Given the description of an element on the screen output the (x, y) to click on. 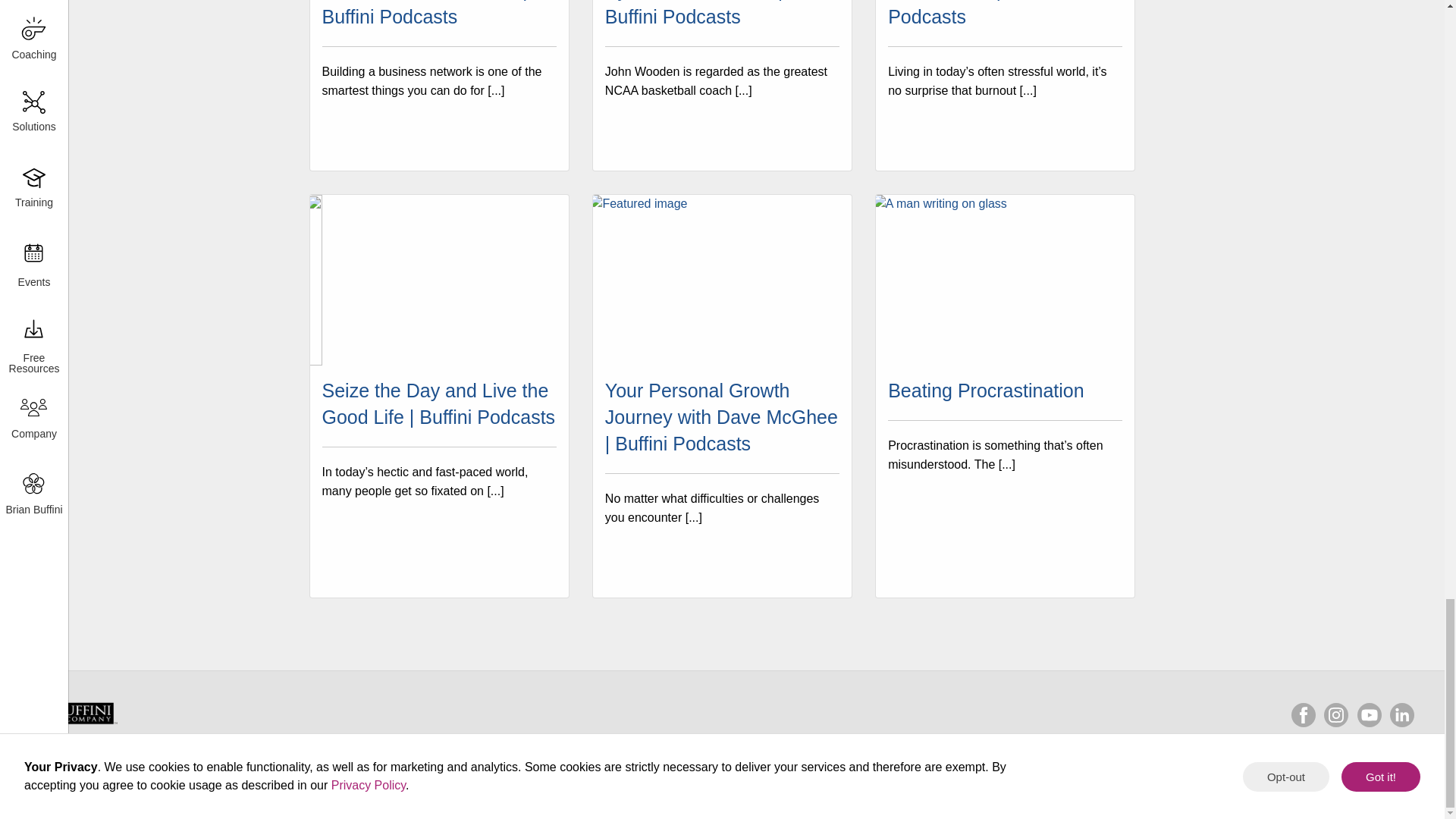
Instagram (1335, 714)
LinkedIn (1401, 714)
Facebook (1303, 714)
YouTube (1368, 714)
